Given the description of an element on the screen output the (x, y) to click on. 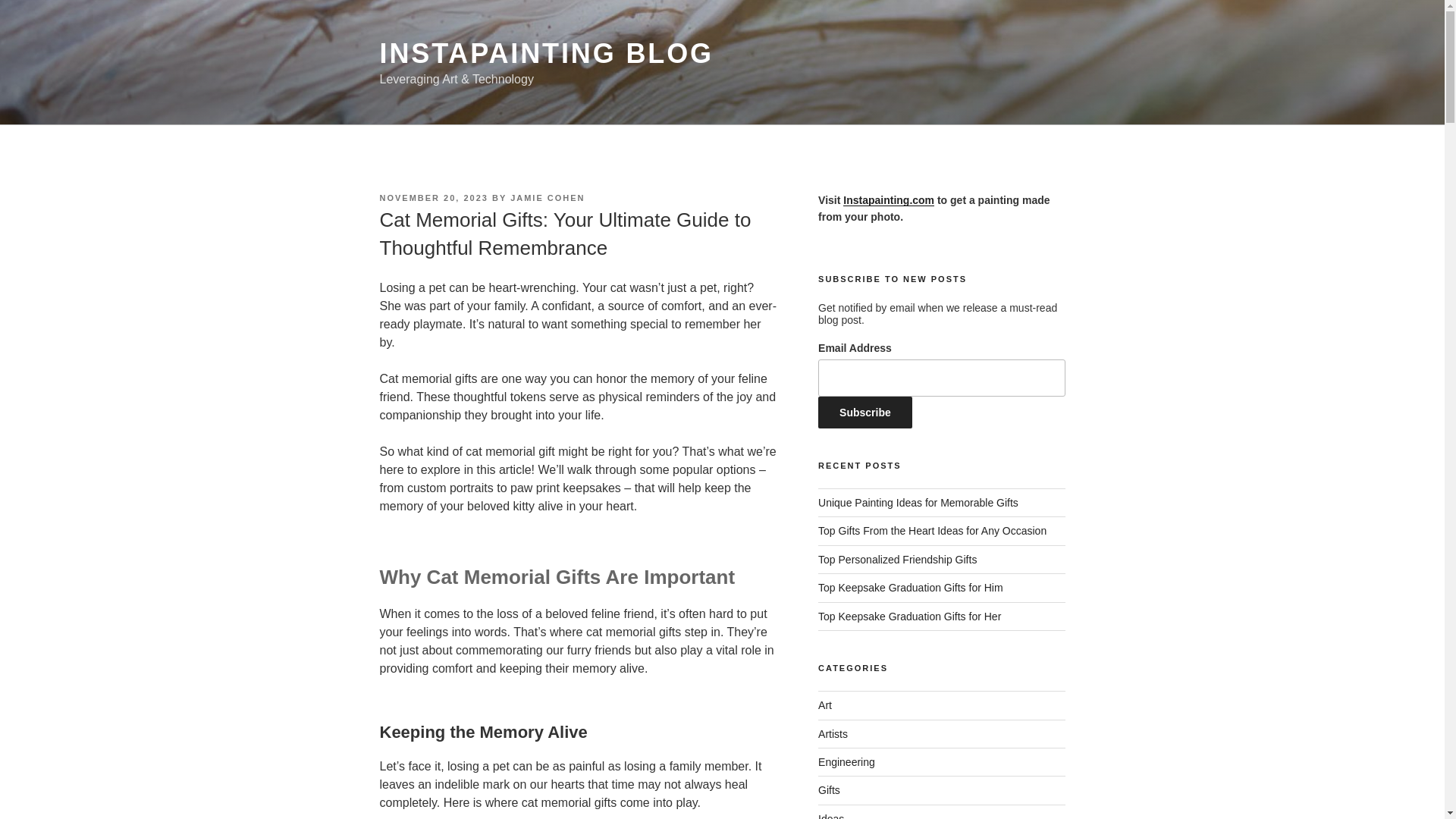
Subscribe (865, 412)
INSTAPAINTING BLOG (545, 52)
Artists (832, 734)
Subscribe (865, 412)
Engineering (846, 761)
JAMIE COHEN (548, 197)
Top Gifts From the Heart Ideas for Any Occasion (932, 530)
Unique Painting Ideas for Memorable Gifts (917, 502)
Gifts (829, 789)
Art (824, 705)
Ideas (831, 816)
Top Personalized Friendship Gifts (897, 559)
Instapainting.com (888, 200)
Top Keepsake Graduation Gifts for Him (910, 587)
NOVEMBER 20, 2023 (432, 197)
